Given the description of an element on the screen output the (x, y) to click on. 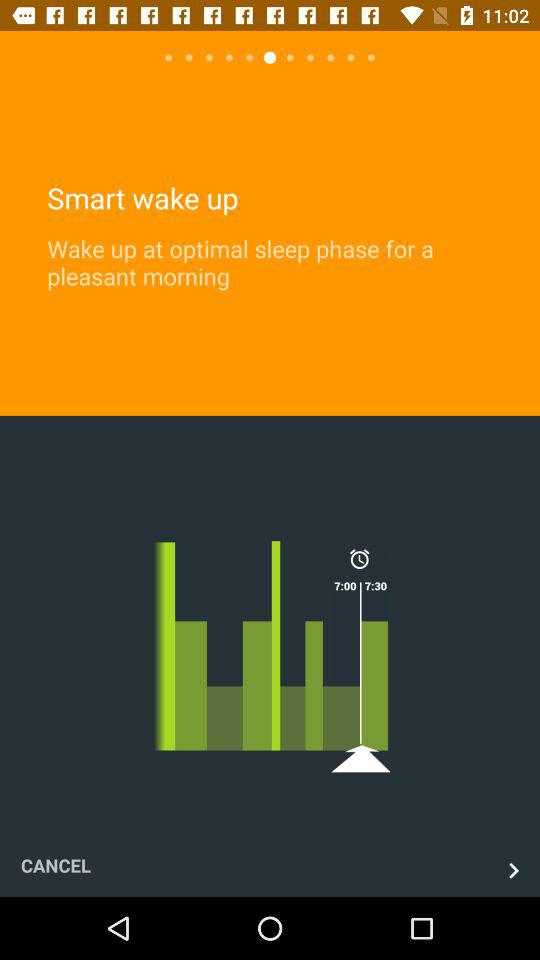
go to the next page (513, 870)
